Given the description of an element on the screen output the (x, y) to click on. 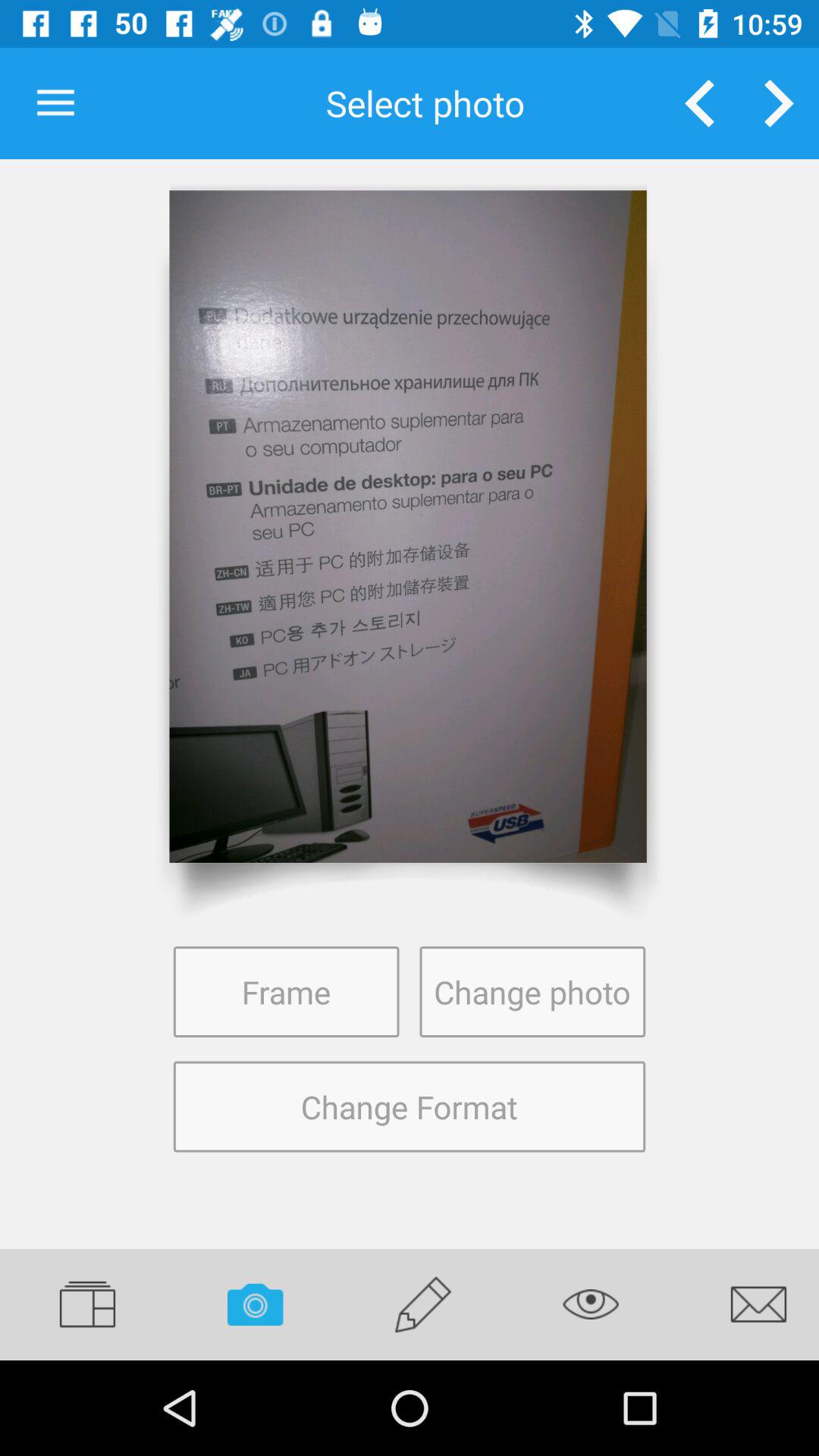
forward (779, 103)
